Given the description of an element on the screen output the (x, y) to click on. 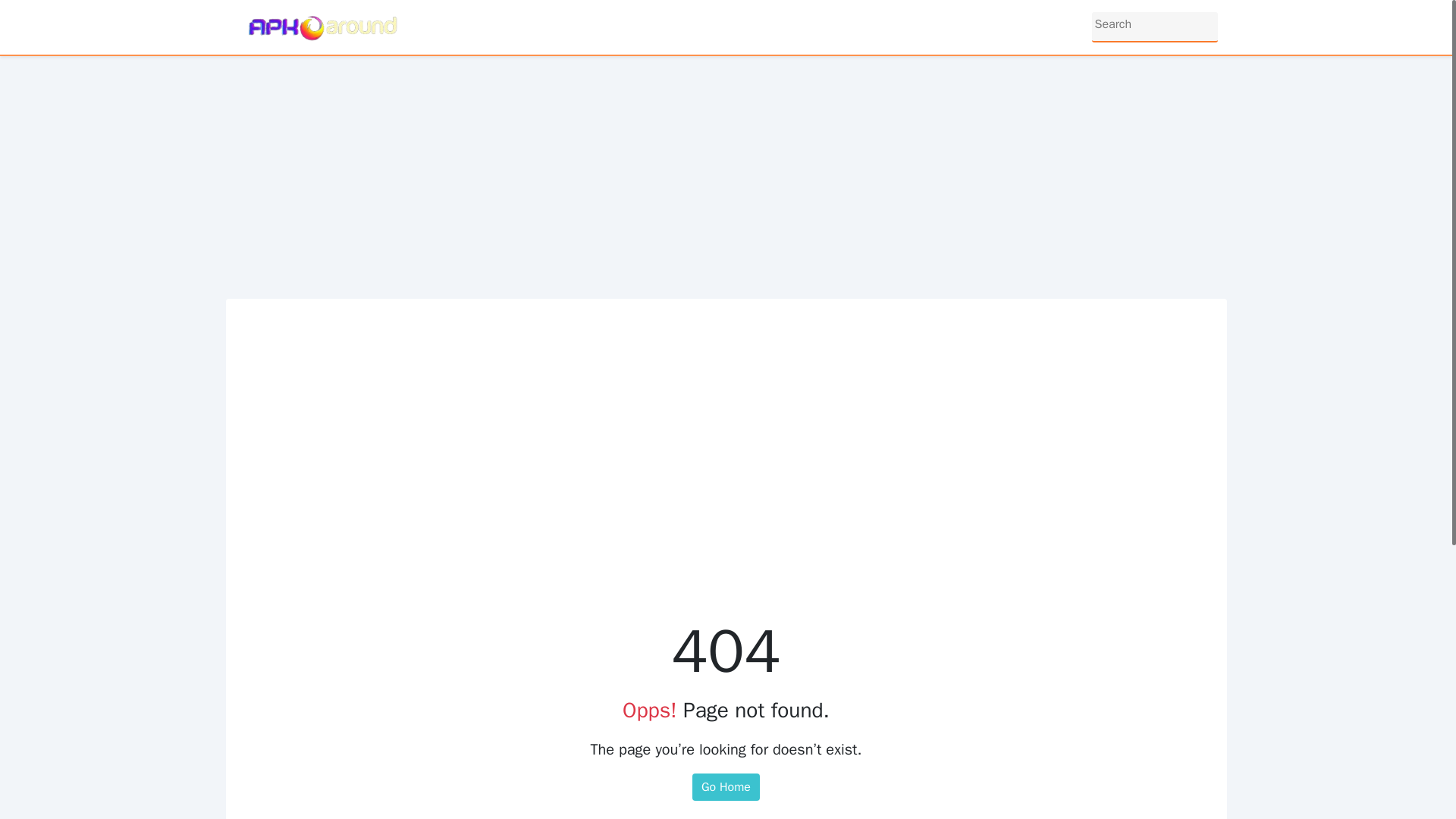
Go Home (726, 786)
